Given the description of an element on the screen output the (x, y) to click on. 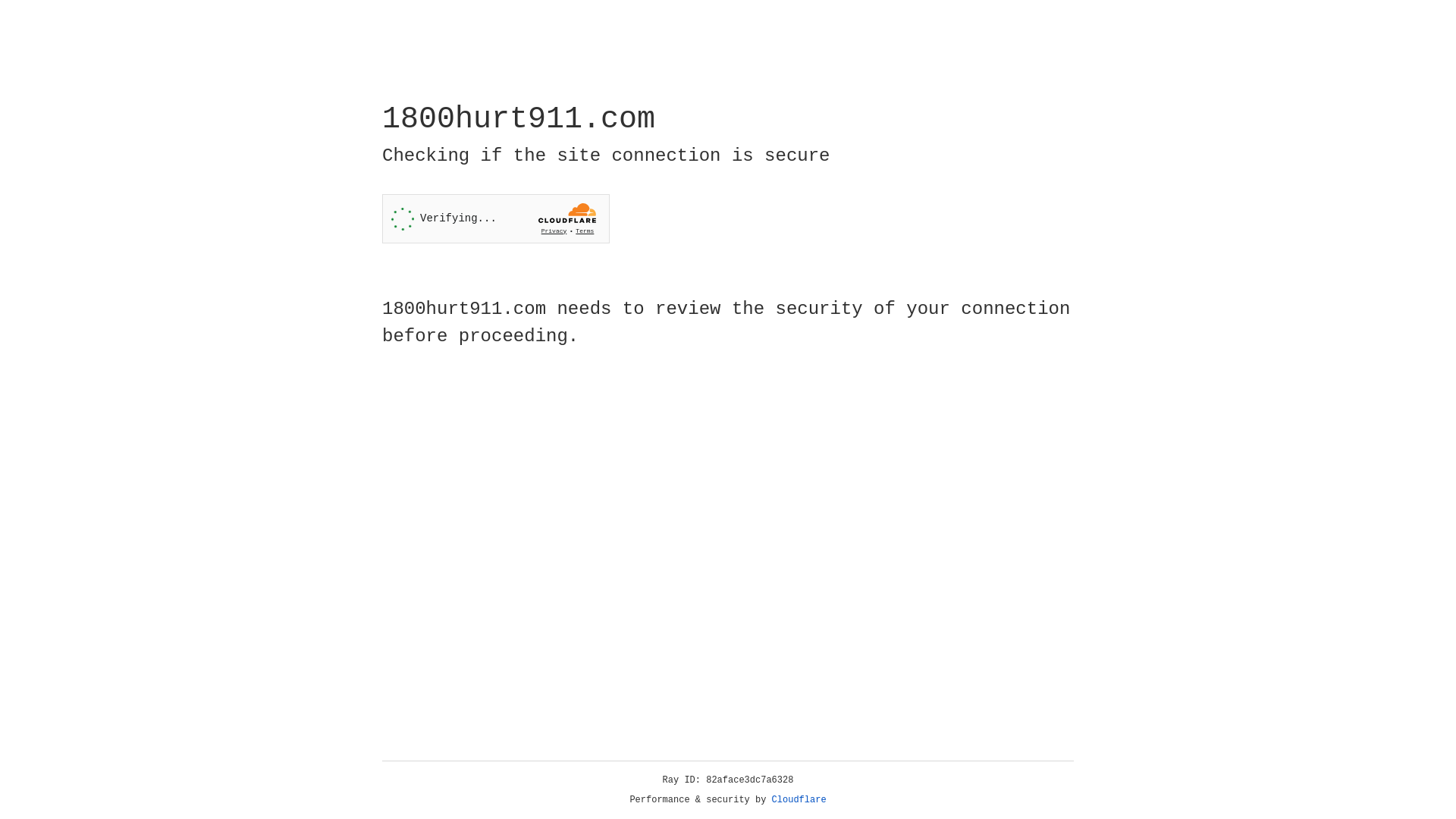
Widget containing a Cloudflare security challenge Element type: hover (495, 218)
Cloudflare Element type: text (798, 799)
